Given the description of an element on the screen output the (x, y) to click on. 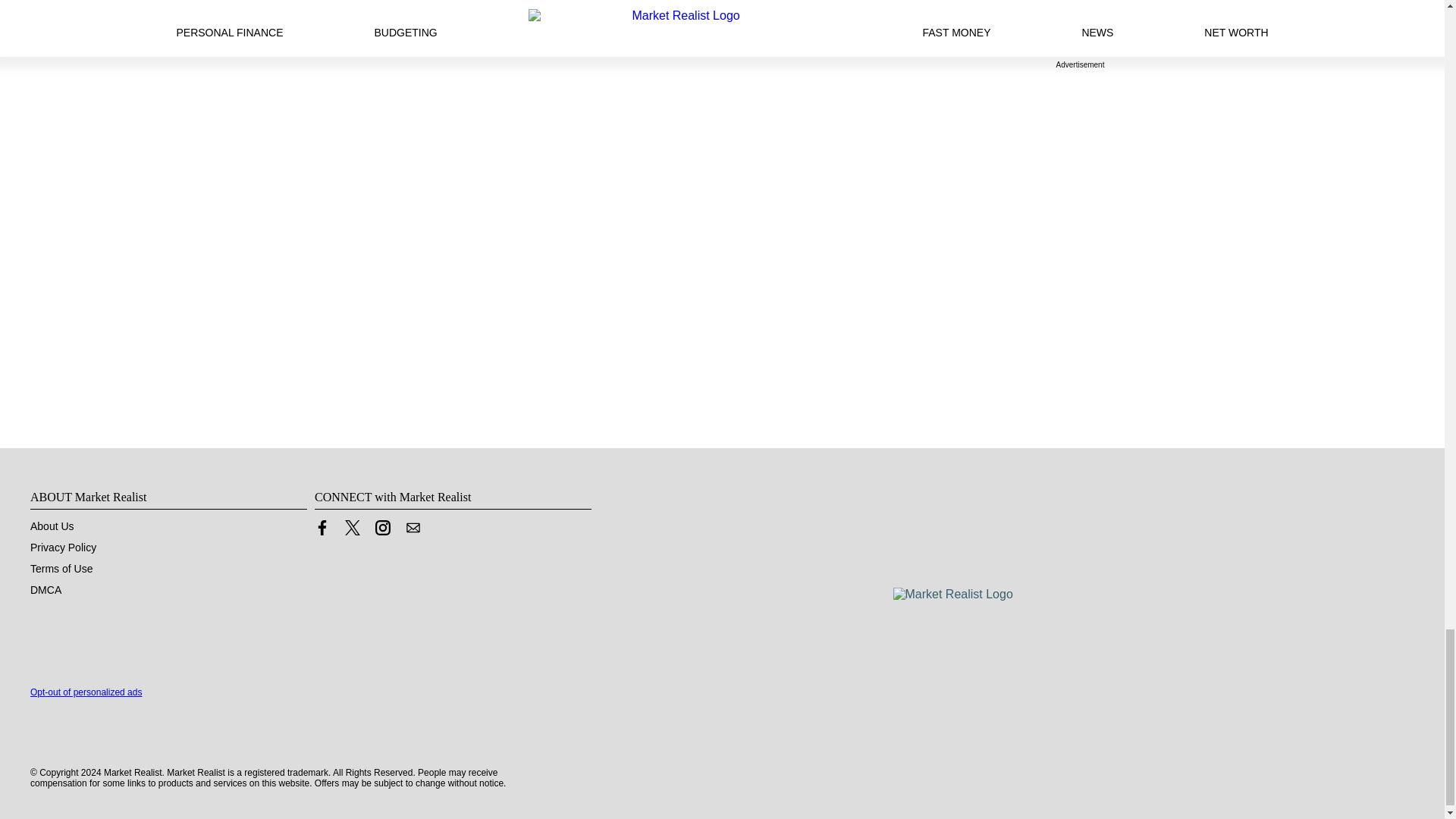
DMCA (45, 589)
Contact us by Email (413, 531)
Link to Facebook (322, 527)
Contact us by Email (413, 527)
DMCA (45, 589)
Link to X (352, 527)
Link to Facebook (322, 531)
Link to X (352, 531)
About Us (52, 526)
Terms of Use (61, 568)
